Given the description of an element on the screen output the (x, y) to click on. 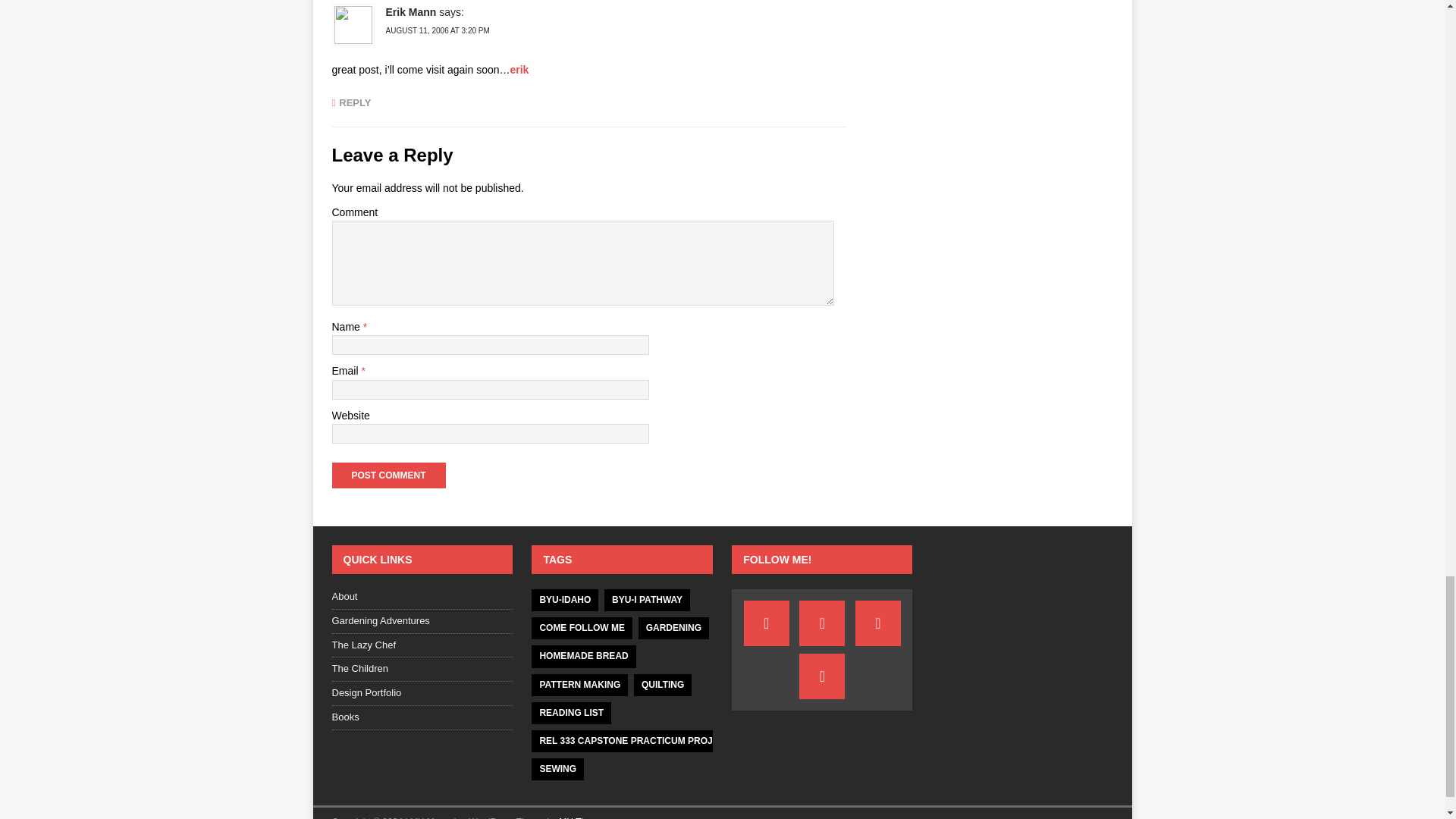
Post Comment (388, 475)
